Given the description of an element on the screen output the (x, y) to click on. 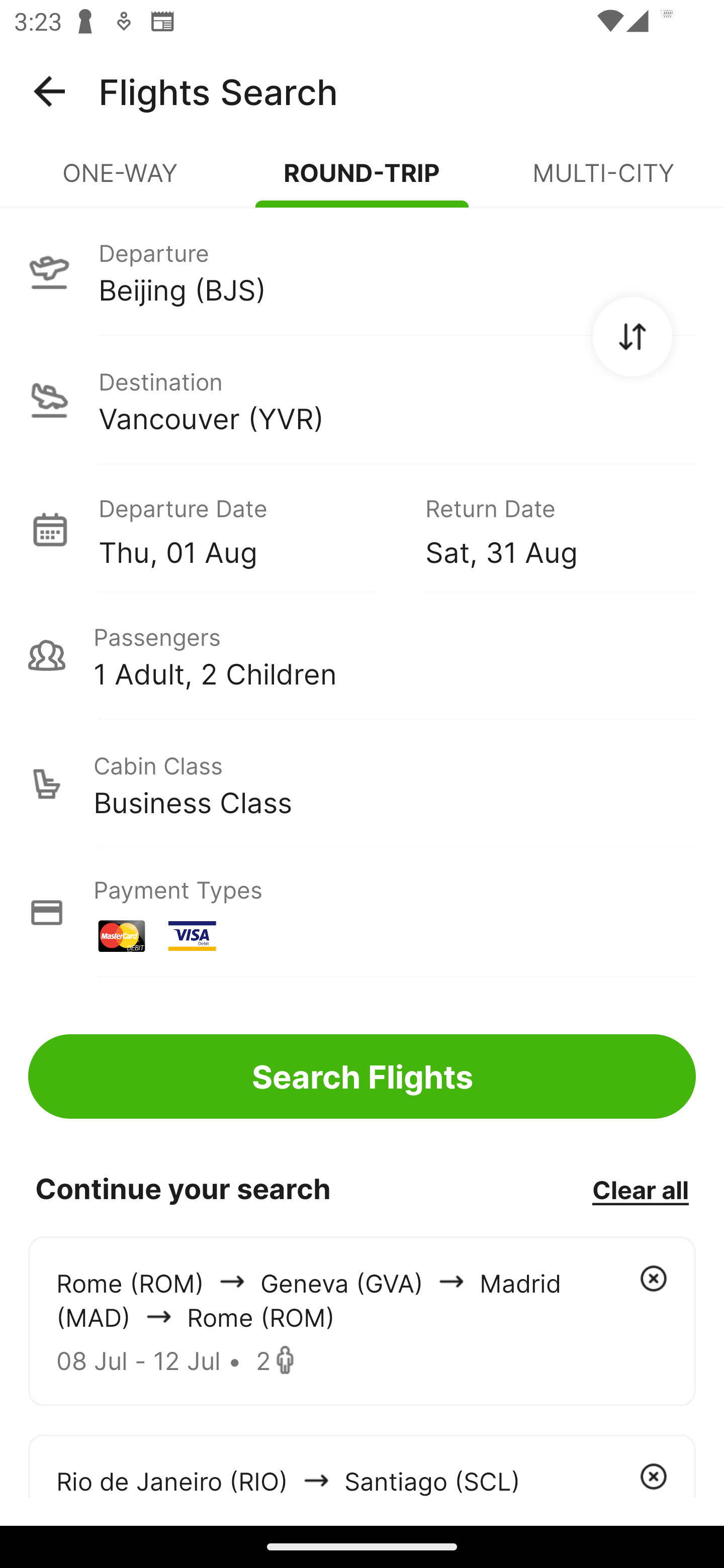
ONE-WAY (120, 180)
ROUND-TRIP (361, 180)
MULTI-CITY (603, 180)
Departure Beijing (BJS) (362, 270)
Destination Vancouver (YVR) (362, 400)
Departure Date Thu, 01 Aug (247, 528)
Return Date Sat, 31 Aug (546, 528)
Passengers 1 Adult, 2 Children (362, 655)
Cabin Class Business Class (362, 783)
Payment Types (362, 912)
Search Flights (361, 1075)
Clear all (640, 1189)
Rio de Janeiro (RIO)  arrowIcon  Santiago (SCL) (361, 1465)
